Given the description of an element on the screen output the (x, y) to click on. 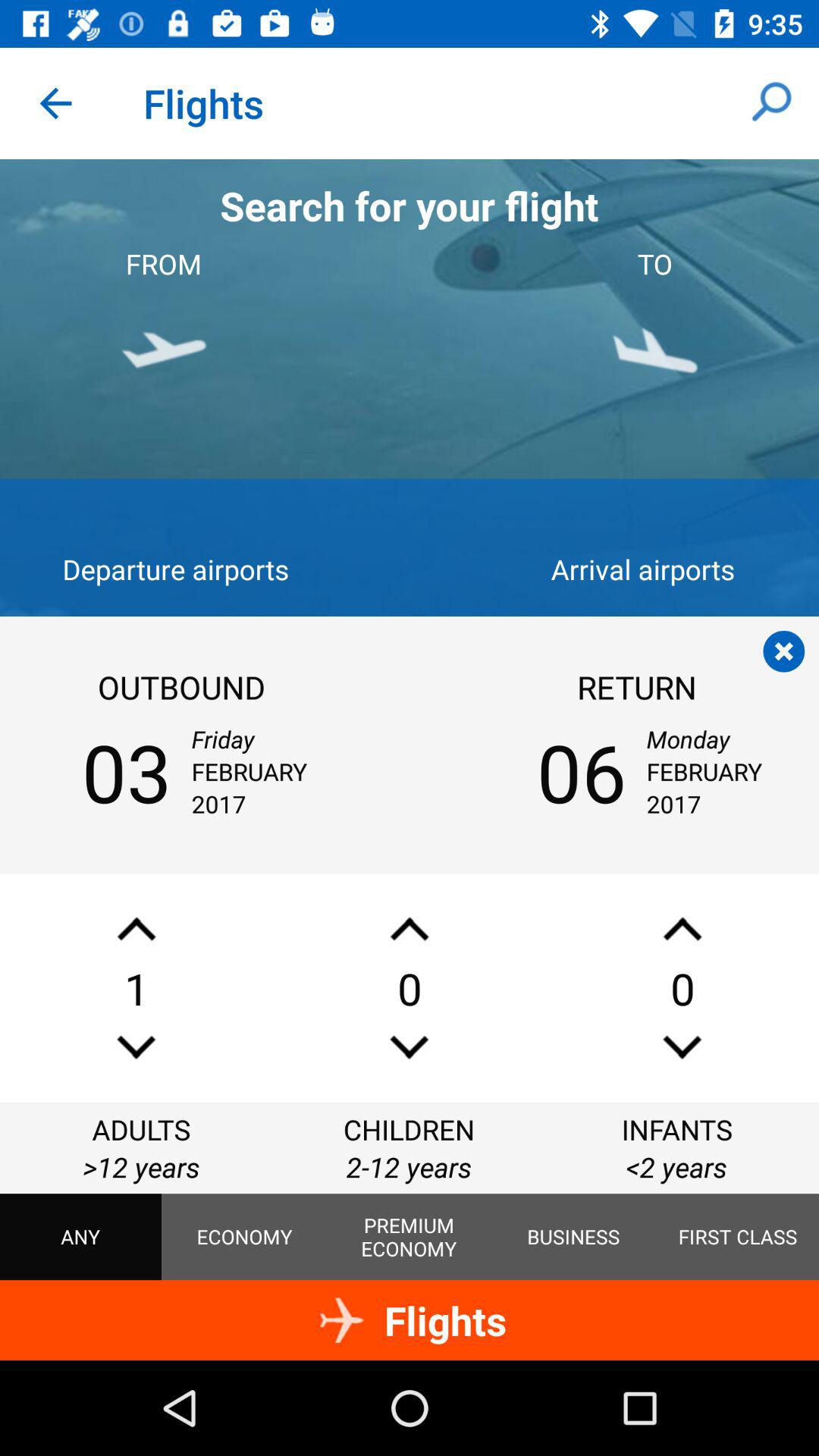
scroll to the any item (80, 1236)
